Given the description of an element on the screen output the (x, y) to click on. 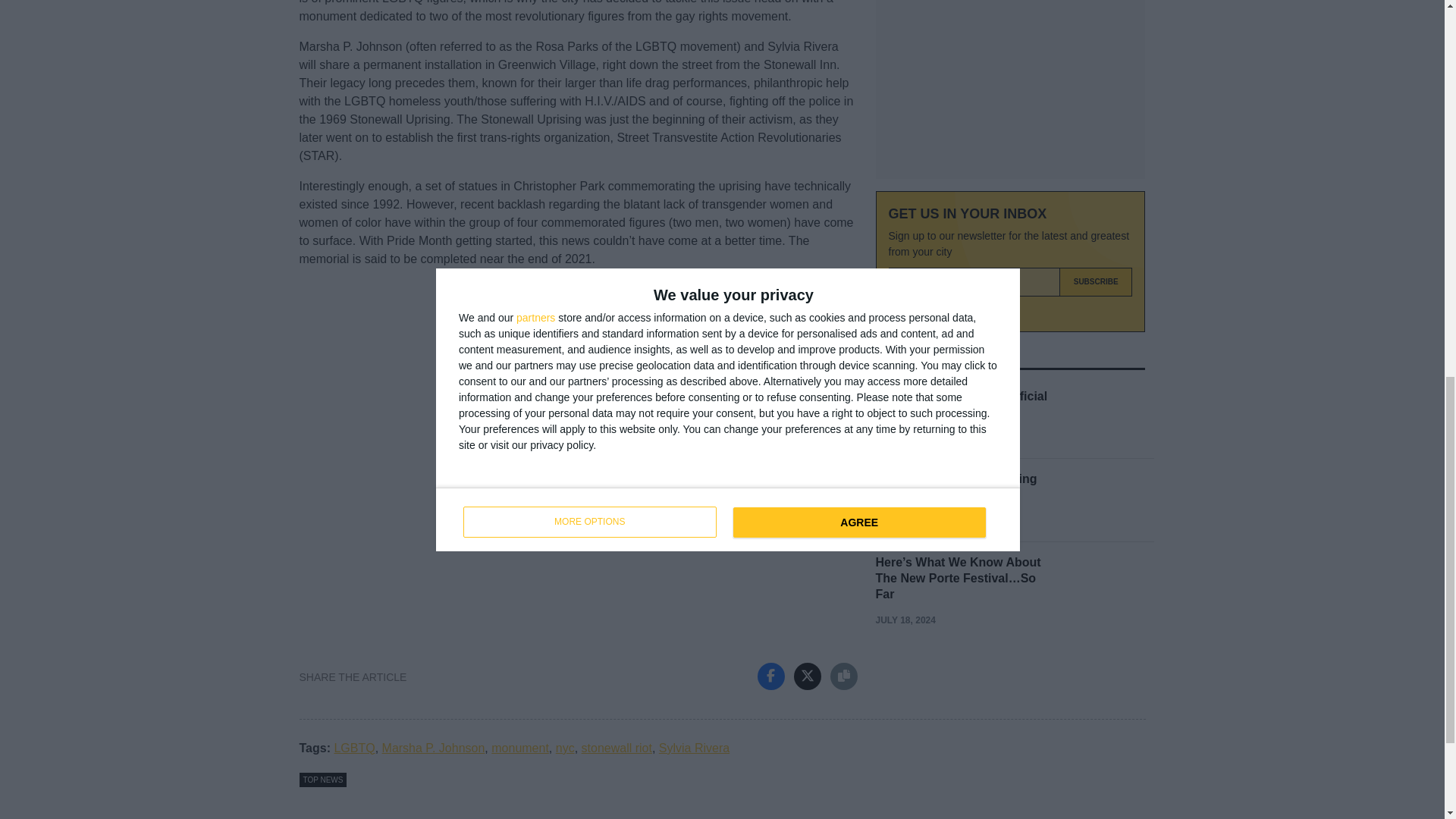
NYC Now Has Its First Official Disc Golf Course (960, 403)
JULY 18, 2024 (904, 620)
JULY 18, 2024 (904, 437)
1 (896, 312)
Subscribe (1095, 281)
7 Best Places To Go Surfing Near NYC This Summer (955, 486)
Subscribe (1095, 281)
JULY 18, 2024 (904, 520)
